Given the description of an element on the screen output the (x, y) to click on. 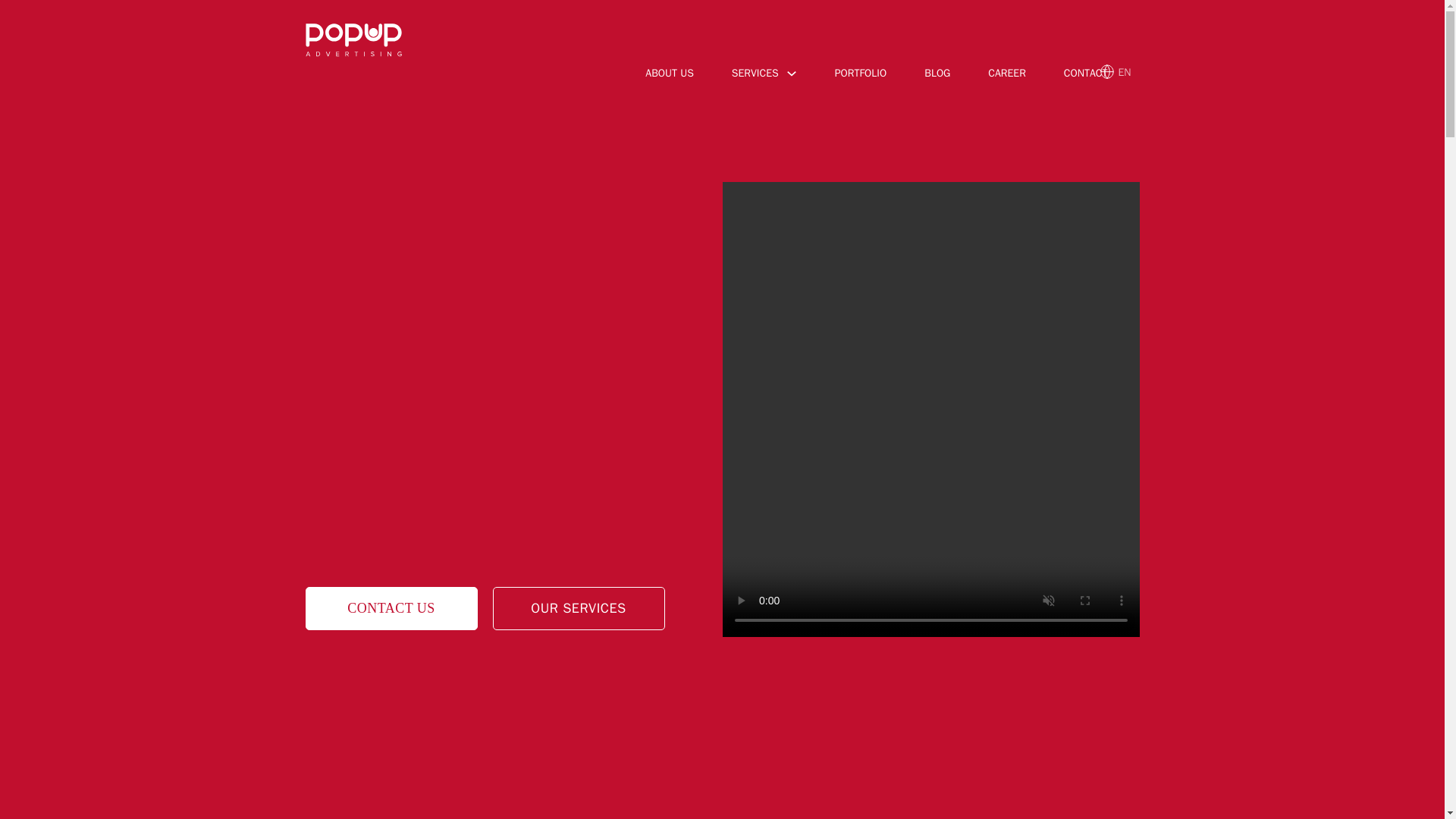
CONTACT US (390, 608)
OUR SERVICES (579, 608)
CAREER (1007, 75)
ABOUT US (669, 75)
CONTACT (1086, 75)
SERVICES (755, 73)
PORTFOLIO (860, 75)
BLOG (937, 75)
